Given the description of an element on the screen output the (x, y) to click on. 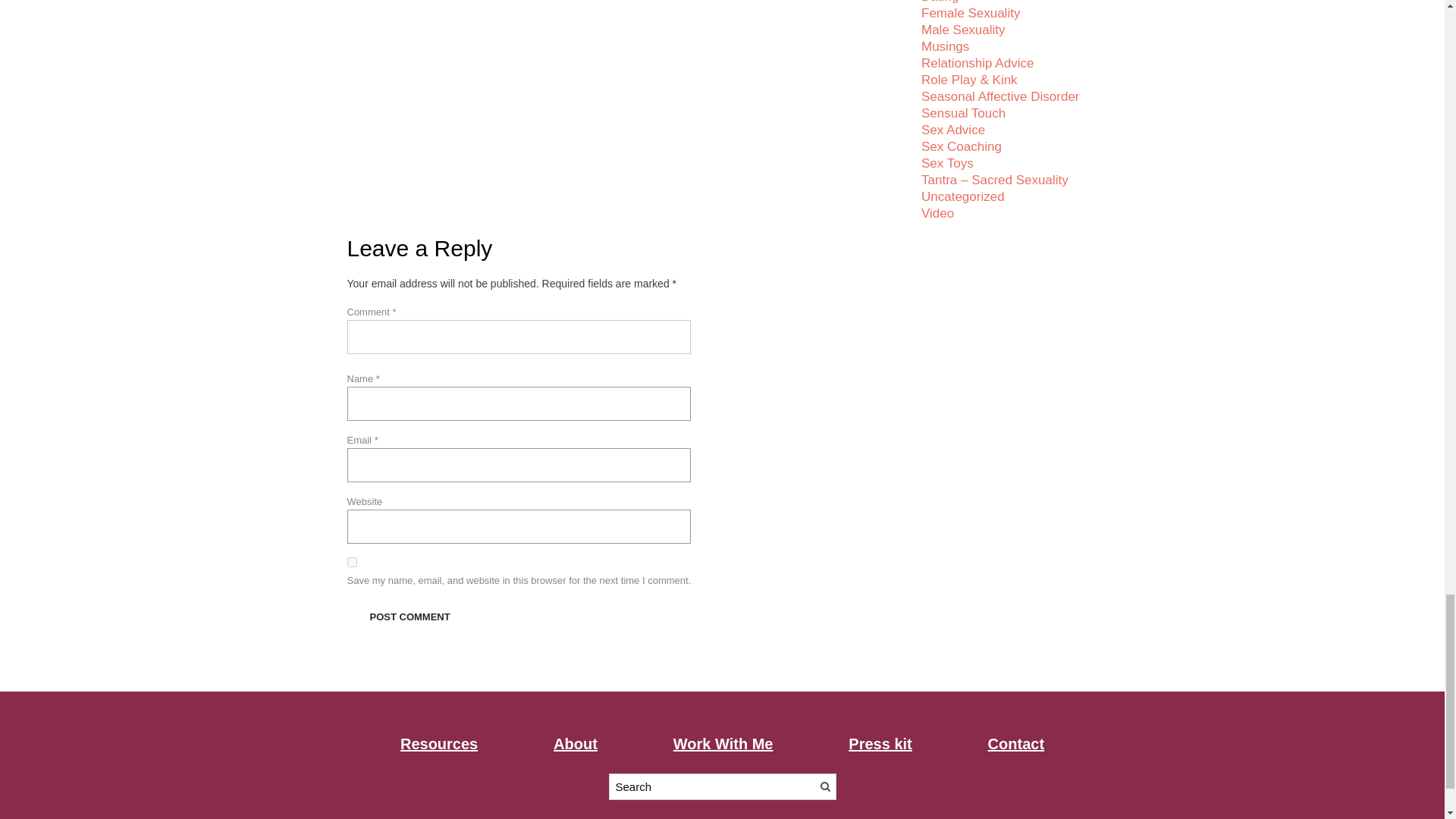
Post Comment (410, 616)
Search (823, 787)
yes (351, 562)
